Given the description of an element on the screen output the (x, y) to click on. 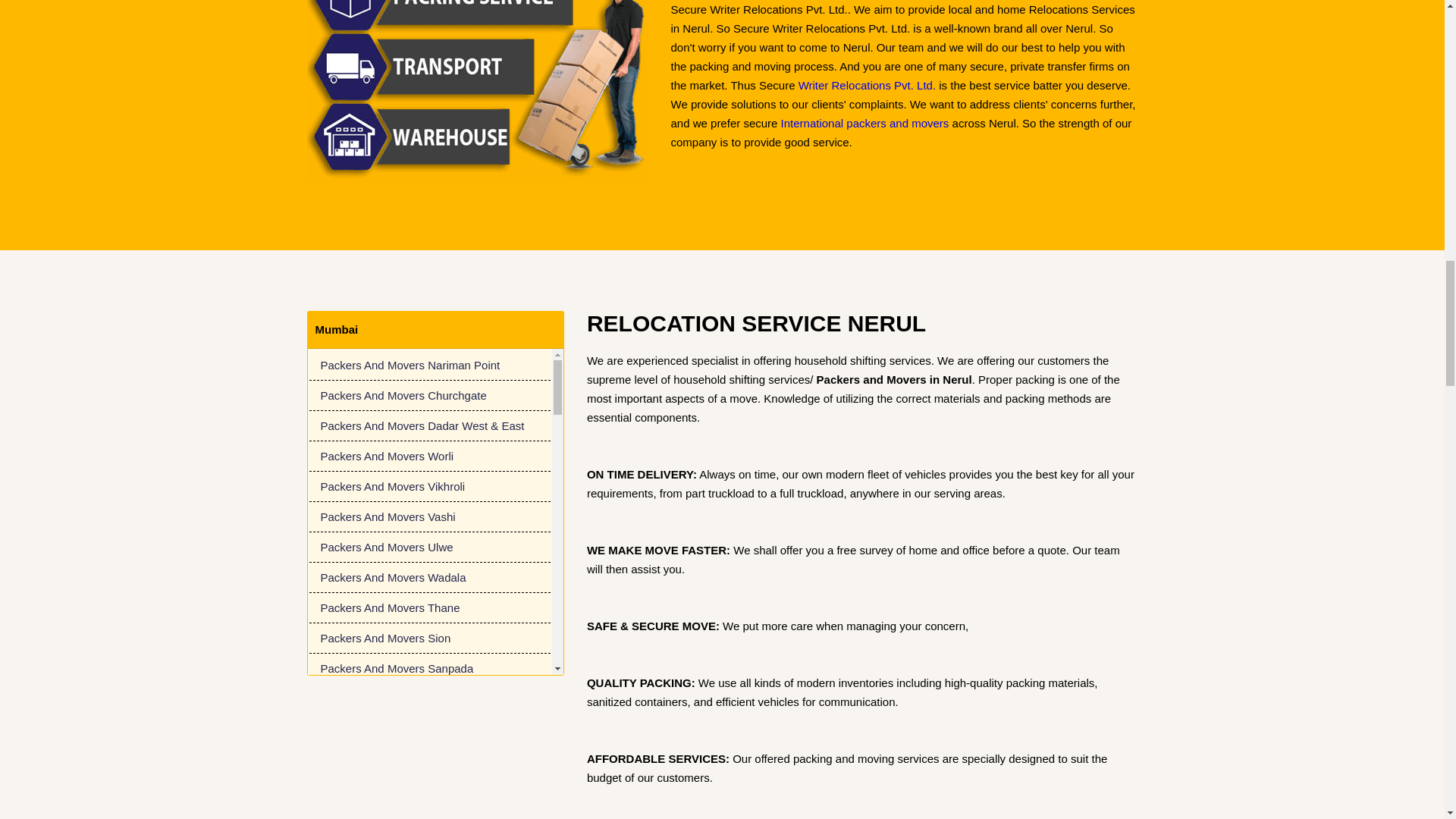
Writer Relocations Pvt. Ltd. (866, 84)
Packers And Movers Vikhroli (429, 486)
Packers And Movers Vashi (429, 517)
Packers And Movers Churchgate (429, 395)
International packers and movers (864, 123)
Packers And Movers Worli (429, 456)
Packers And Movers Thane (429, 607)
Packers And Movers Wadala (429, 577)
Packers And Movers Nariman Point (429, 365)
Packers And Movers Ulwe (429, 547)
